Given the description of an element on the screen output the (x, y) to click on. 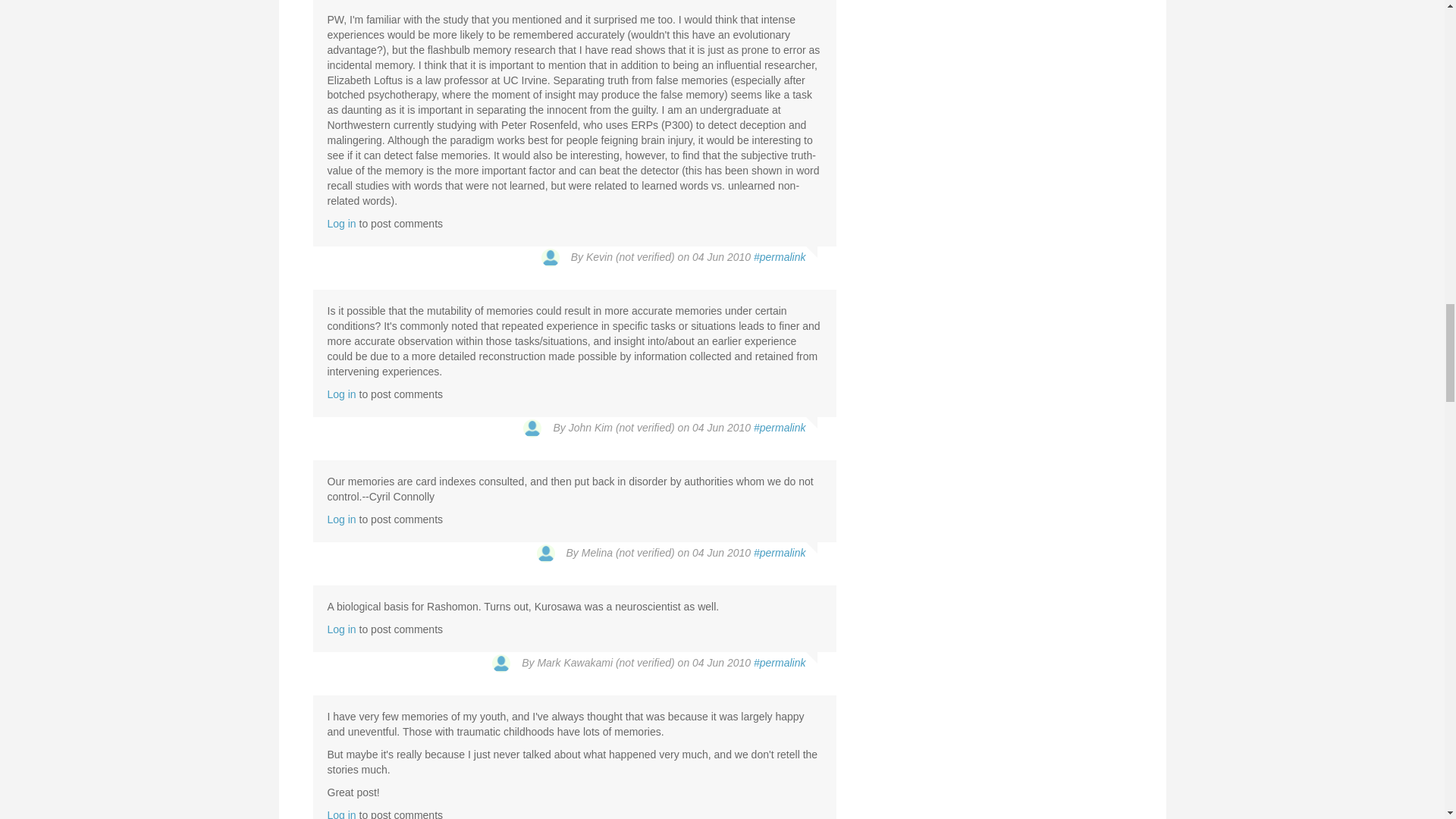
Log in (341, 223)
